Given the description of an element on the screen output the (x, y) to click on. 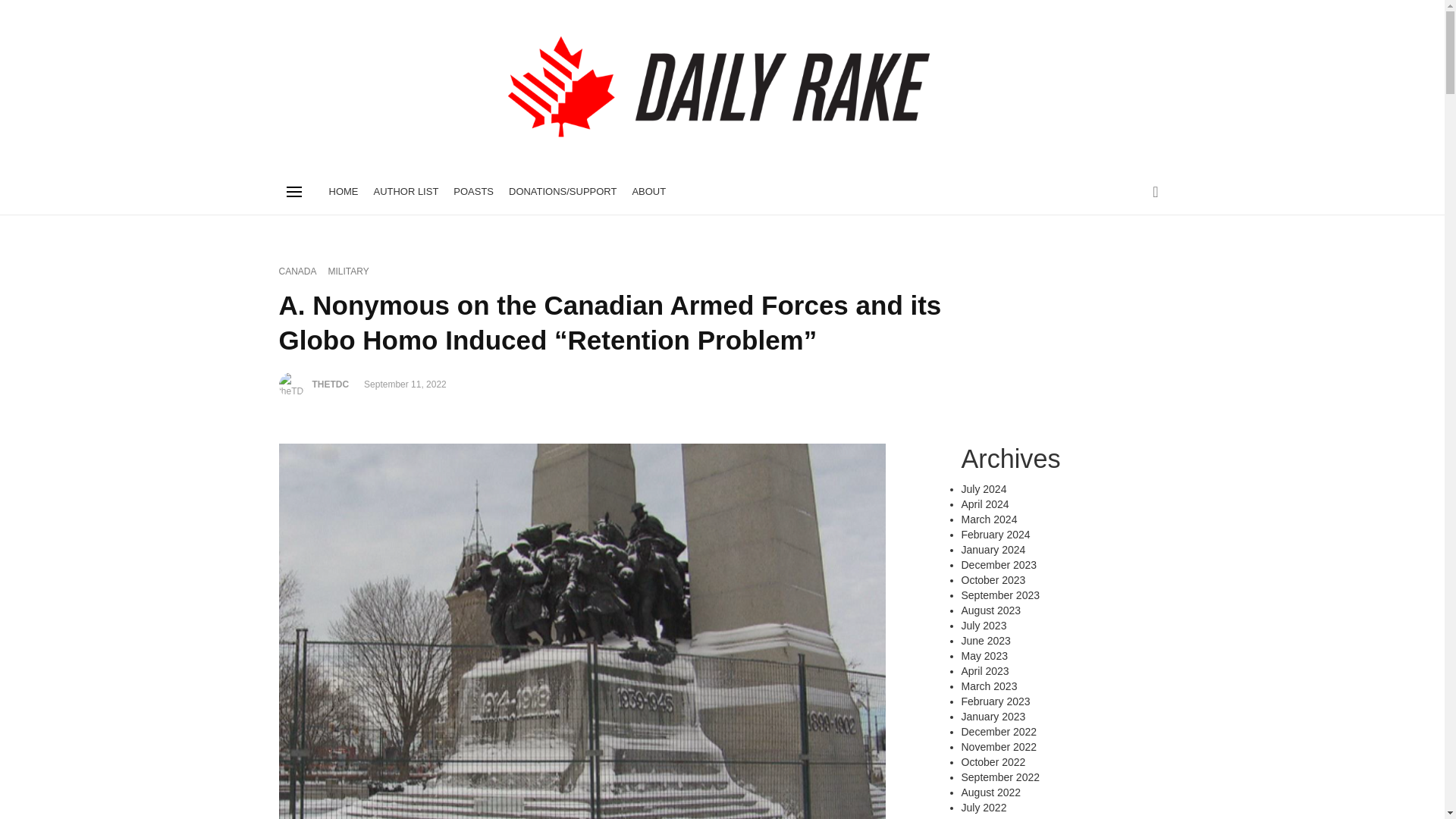
CANADA (298, 271)
September 11, 2022 at 1:00 am (405, 384)
ABOUT (648, 191)
HOME (343, 191)
AUTHOR LIST (405, 191)
POASTS (472, 191)
MILITARY (349, 271)
THETDC (331, 384)
